Given the description of an element on the screen output the (x, y) to click on. 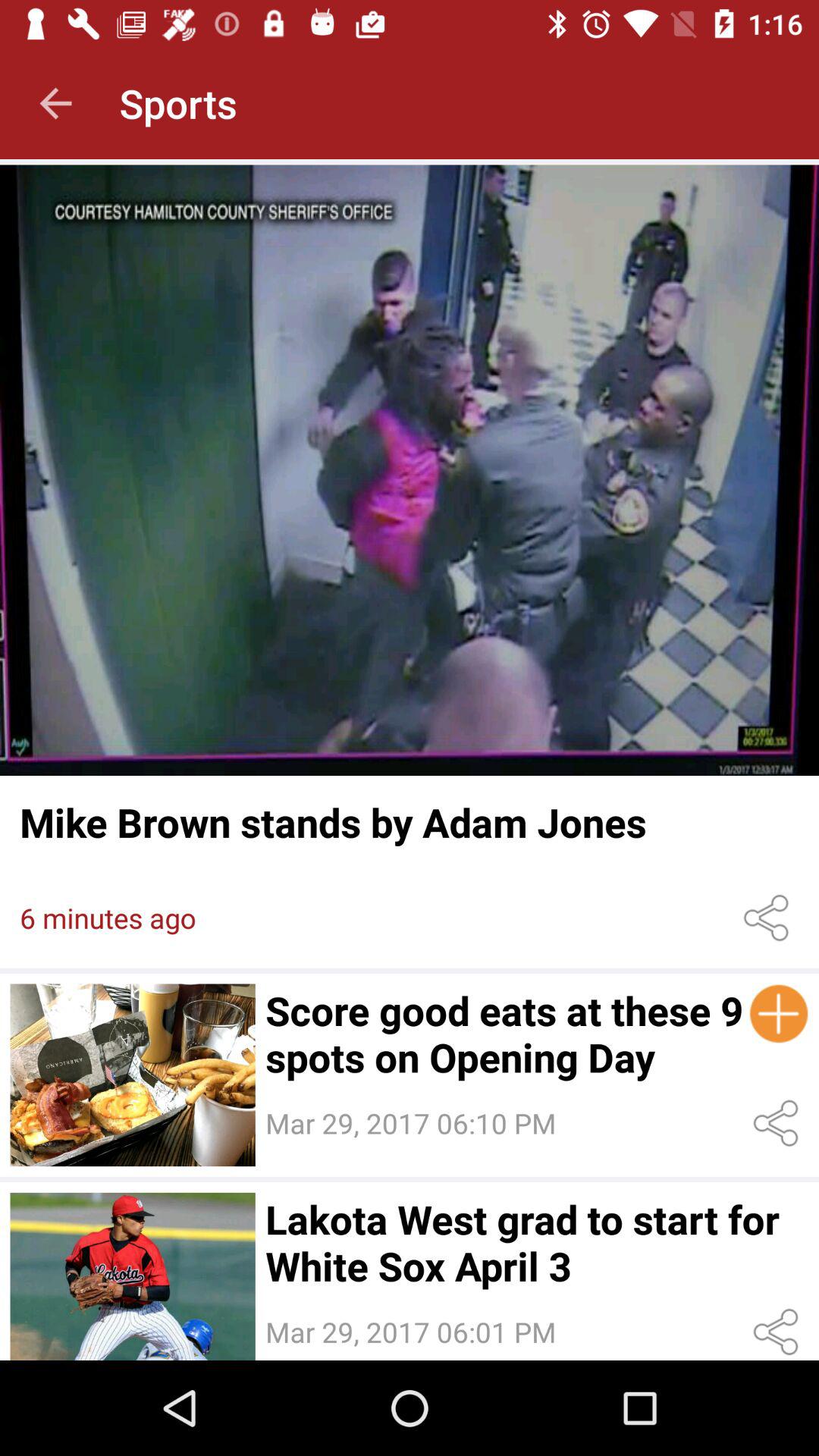
share the article (778, 1123)
